Given the description of an element on the screen output the (x, y) to click on. 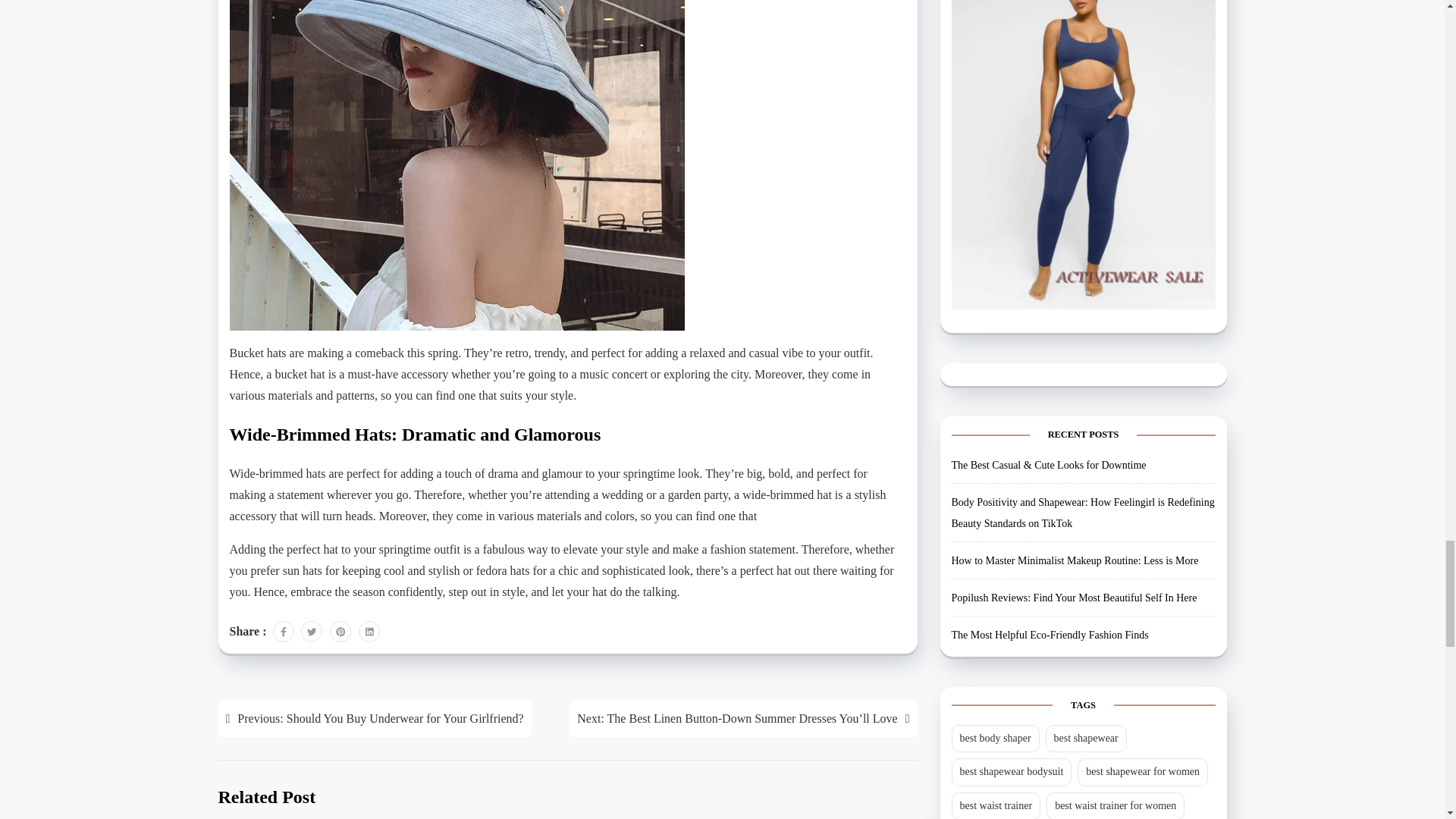
Previous: Should You Buy Underwear for Your Girlfriend? (374, 719)
